Given the description of an element on the screen output the (x, y) to click on. 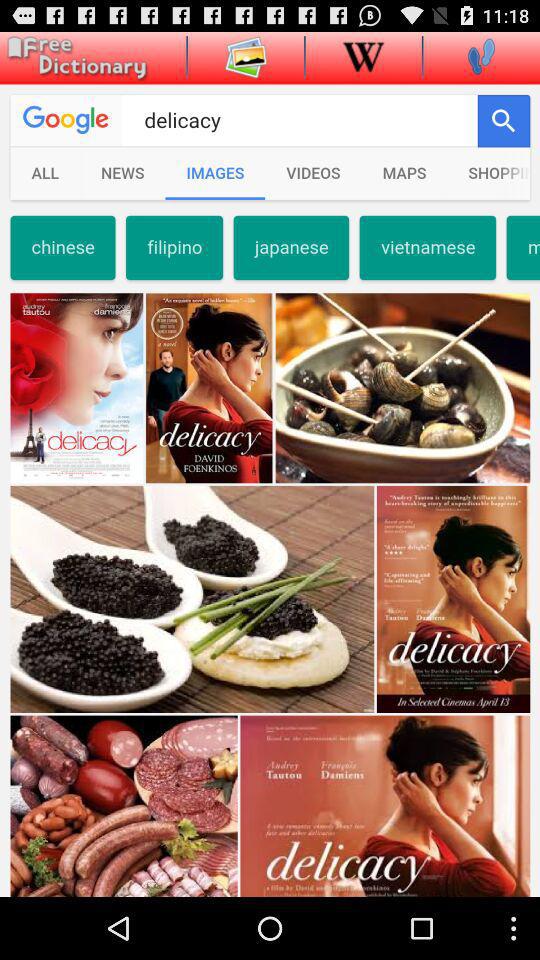
open free dictionary tab (74, 58)
